Given the description of an element on the screen output the (x, y) to click on. 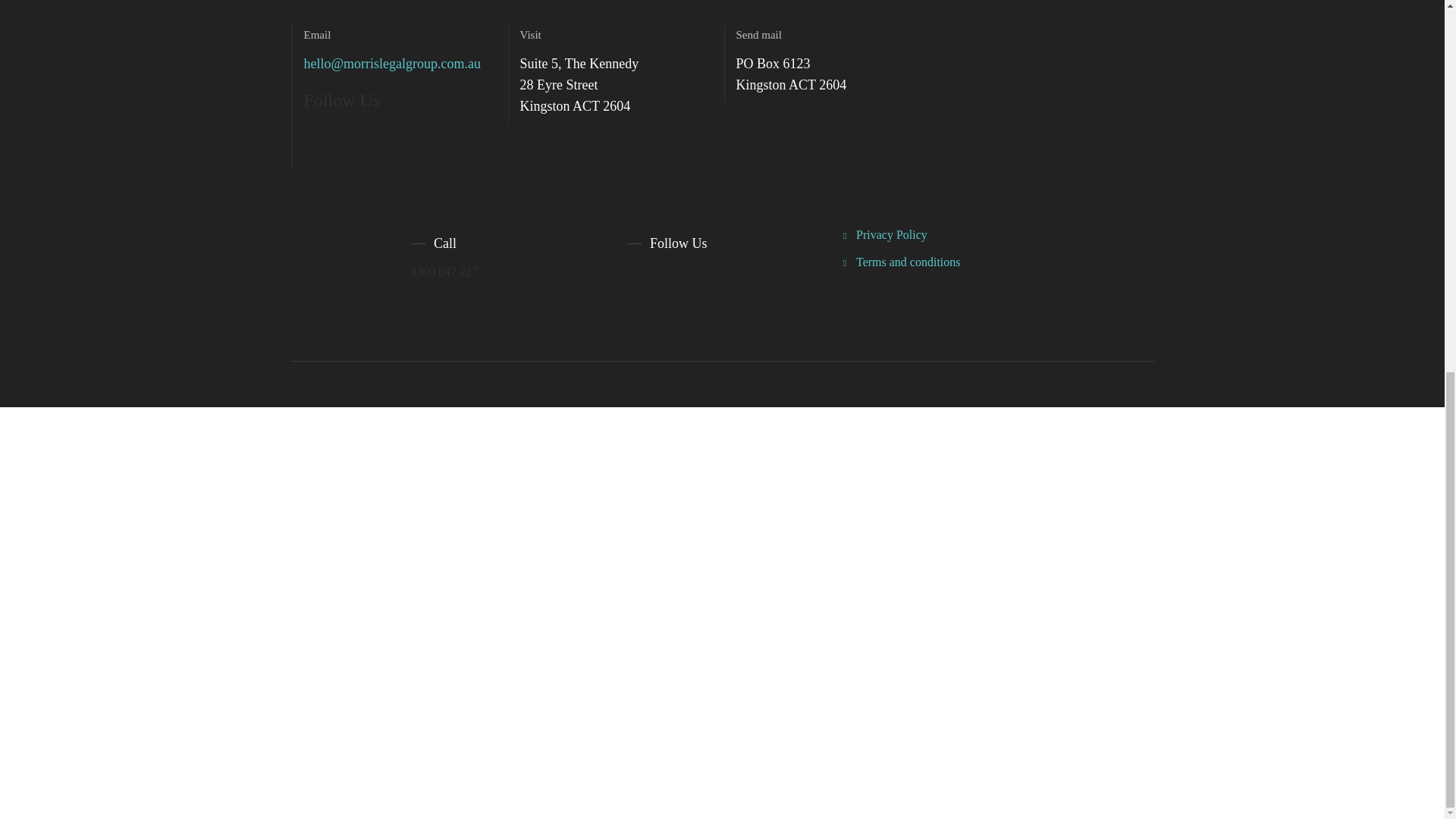
LinkedIn (342, 137)
Instagram (665, 281)
Facebook (314, 137)
Facebook (638, 281)
Terms and conditions (901, 261)
LinkedIn (693, 281)
Privacy Policy (885, 234)
Instagram (369, 137)
